Given the description of an element on the screen output the (x, y) to click on. 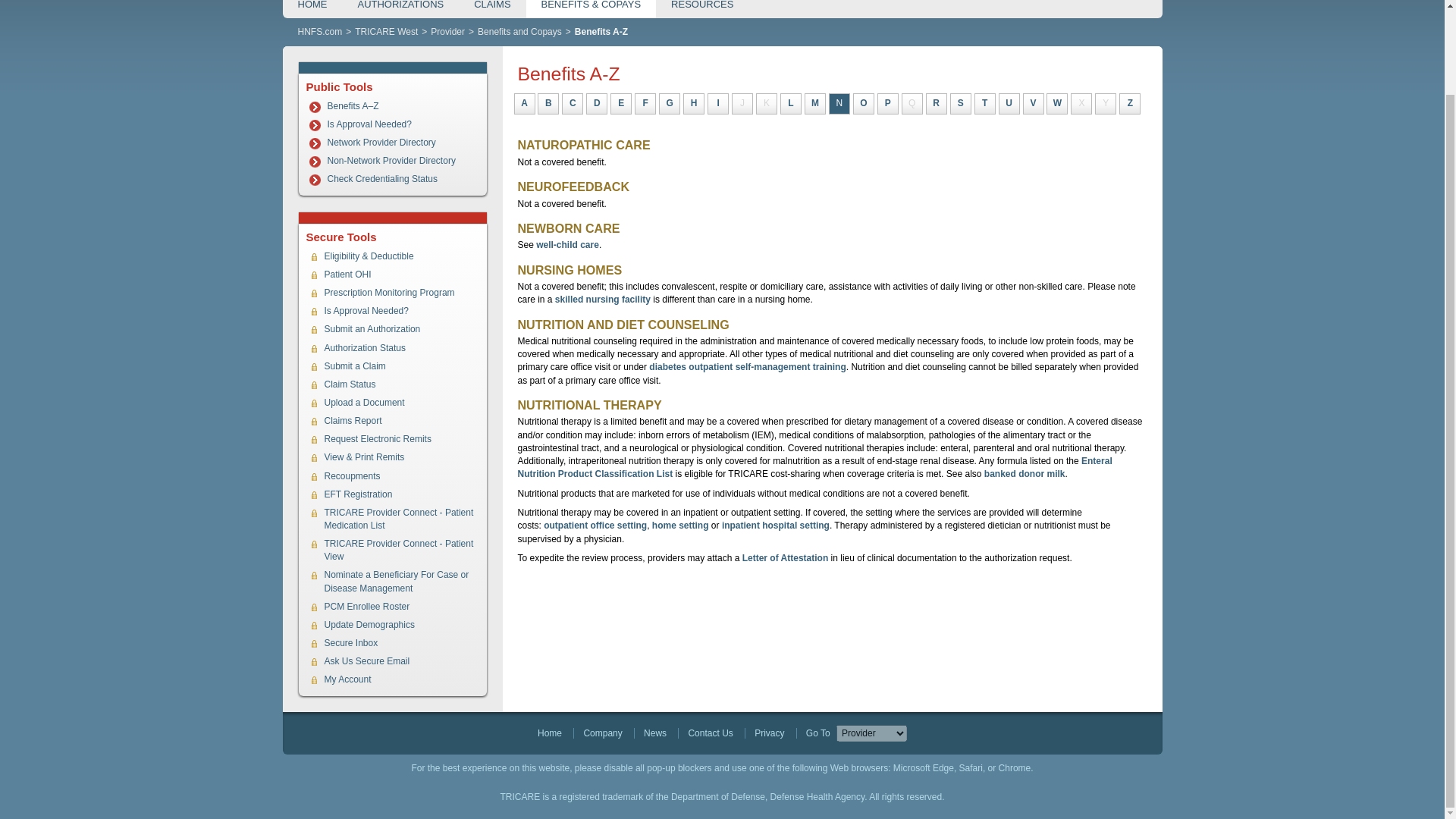
AUTHORIZATIONS (400, 9)
CLAIMS (491, 9)
HOME (312, 9)
